Given the description of an element on the screen output the (x, y) to click on. 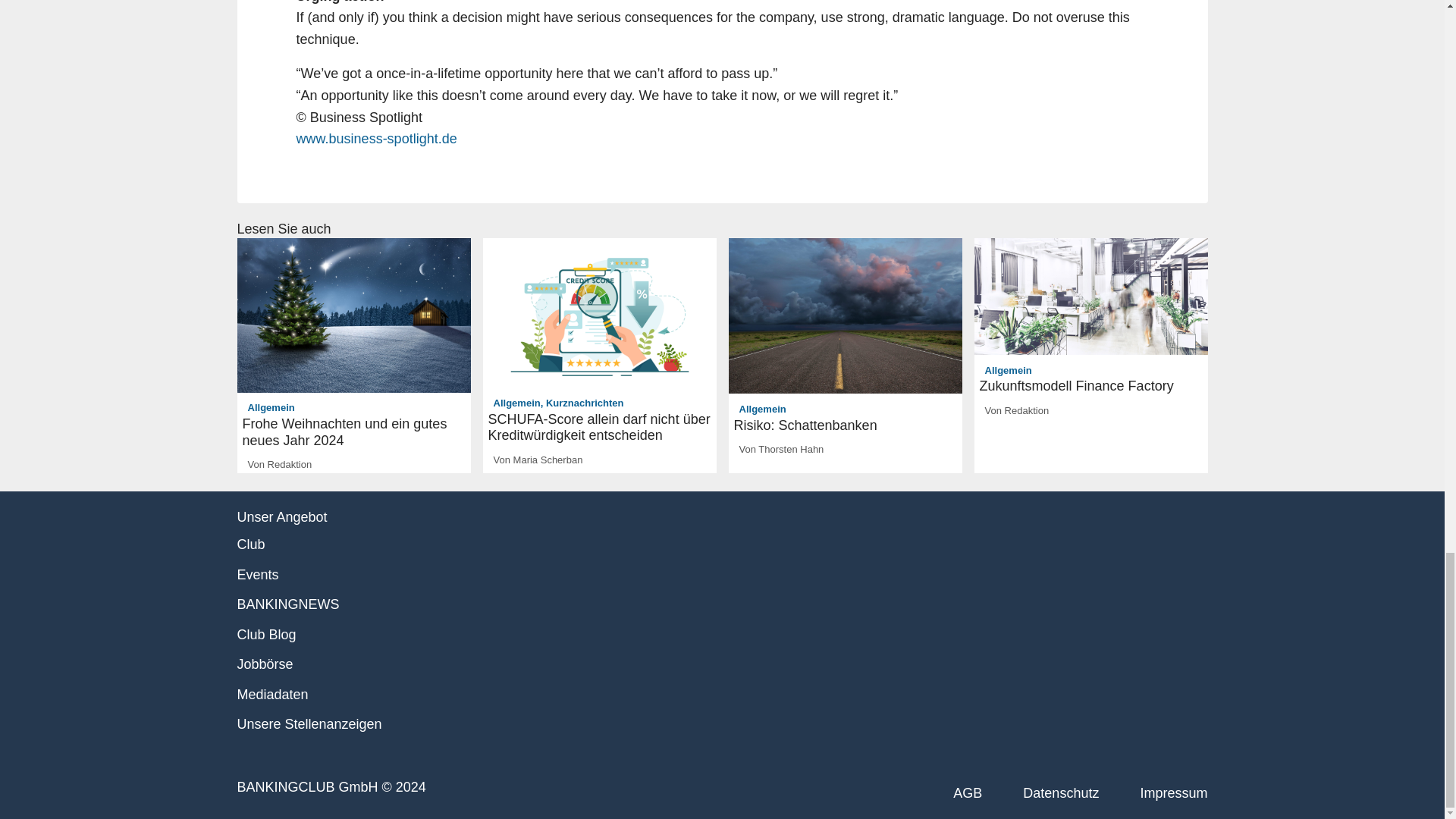
www.business-spotlight.de (377, 138)
Frohe Weihnachten und ein gutes neues Jahr 2024 (354, 432)
Risiko: Schattenbanken  (844, 425)
Allgemein (516, 402)
Allgemein (271, 407)
Allgemein (762, 408)
Kurznachrichten (585, 402)
